Given the description of an element on the screen output the (x, y) to click on. 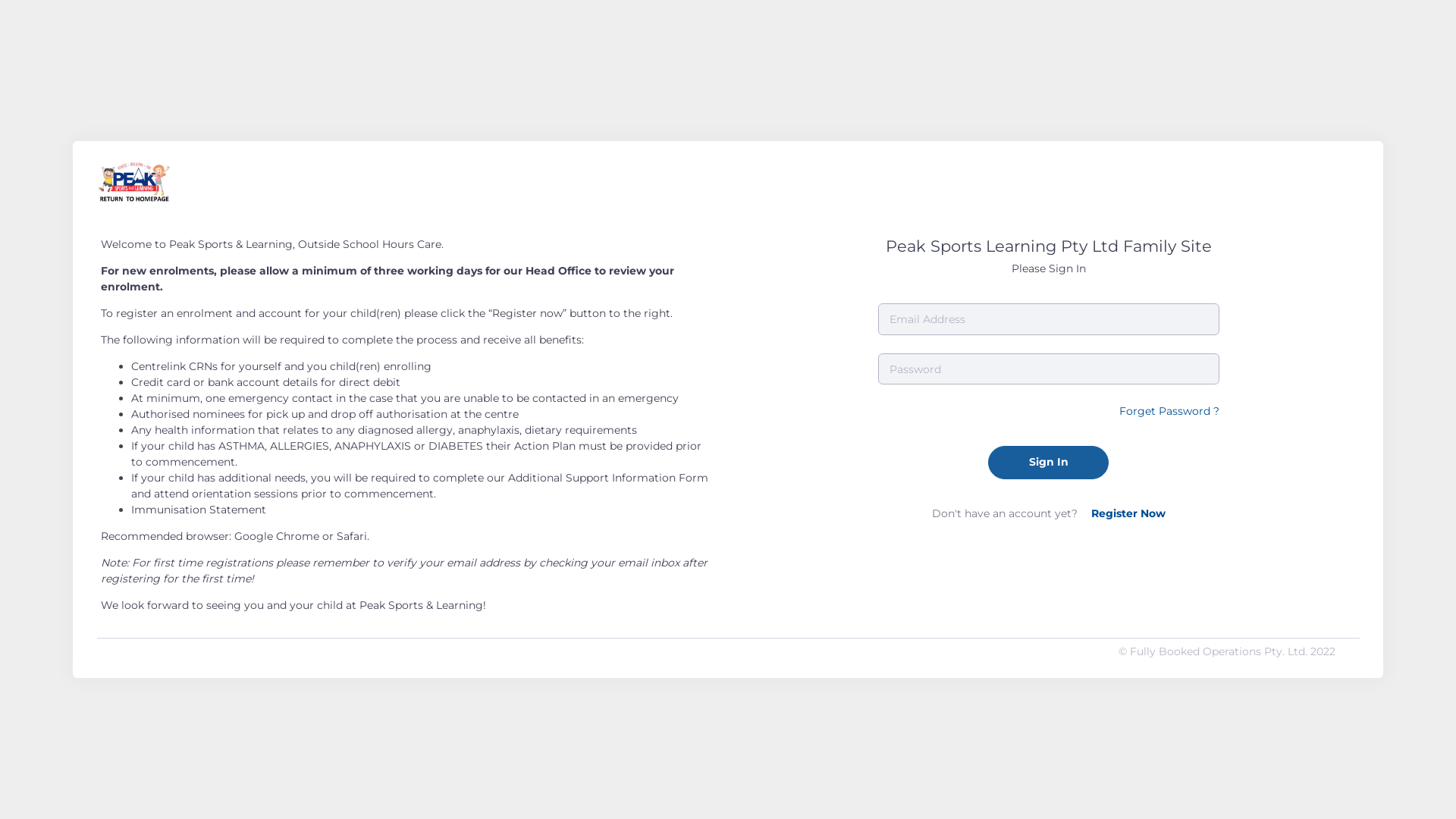
Forget Password ? Element type: text (1169, 410)
Sign In Element type: text (1048, 462)
Register Now Element type: text (1127, 513)
